Given the description of an element on the screen output the (x, y) to click on. 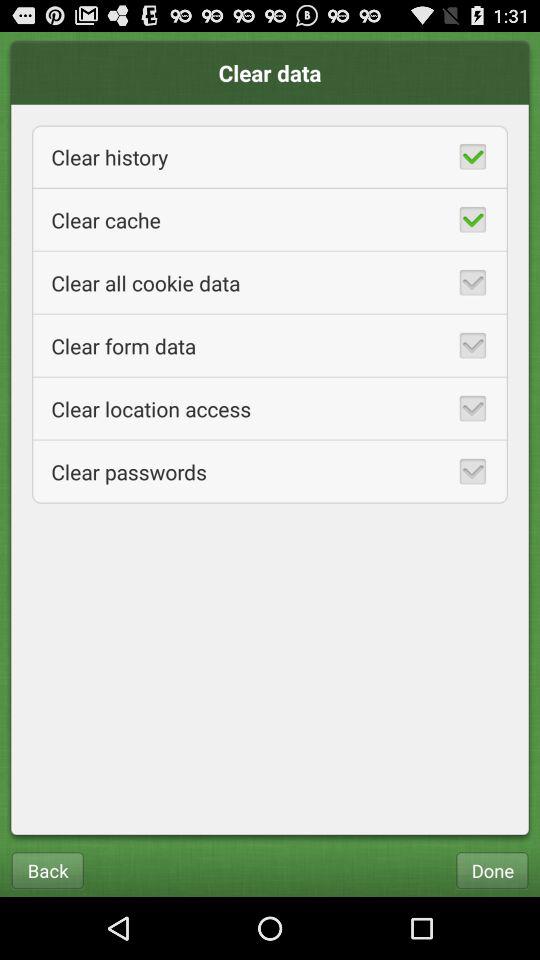
turn on icon below clear form data icon (269, 408)
